Given the description of an element on the screen output the (x, y) to click on. 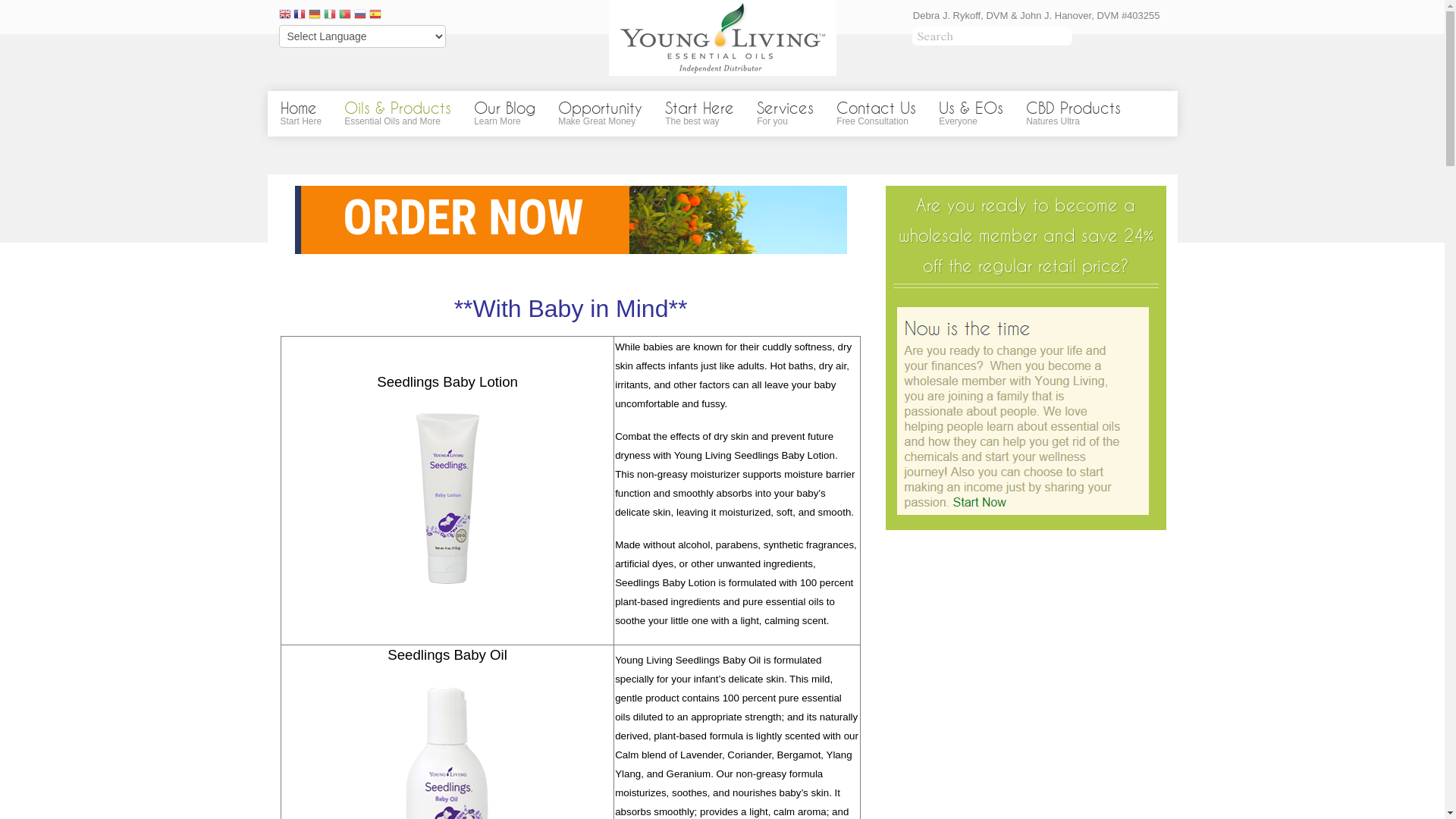
Opportunity
Make Great Money Element type: text (600, 113)
Us & EOs
Everyone Element type: text (970, 113)
CBD Products
Natures Ultra Element type: text (1072, 113)
Services
For you Element type: text (784, 113)
French Element type: hover (299, 15)
Contact Us
Free Consultation Element type: text (876, 113)
Oils & Products
Essential Oils and More Element type: text (397, 113)
Russian Element type: hover (360, 15)
Our Blog
Learn More Element type: text (504, 113)
Home
Start Here Element type: text (301, 113)
Debra J. Rykoff, DVM & John J. Hanover, DVM #403255 Element type: text (1036, 15)
Start Here
The best way Element type: text (699, 113)
Italian Element type: hover (329, 15)
English Element type: hover (285, 15)
German Element type: hover (314, 15)
Portuguese Element type: hover (344, 15)
Spanish Element type: hover (375, 15)
